Given the description of an element on the screen output the (x, y) to click on. 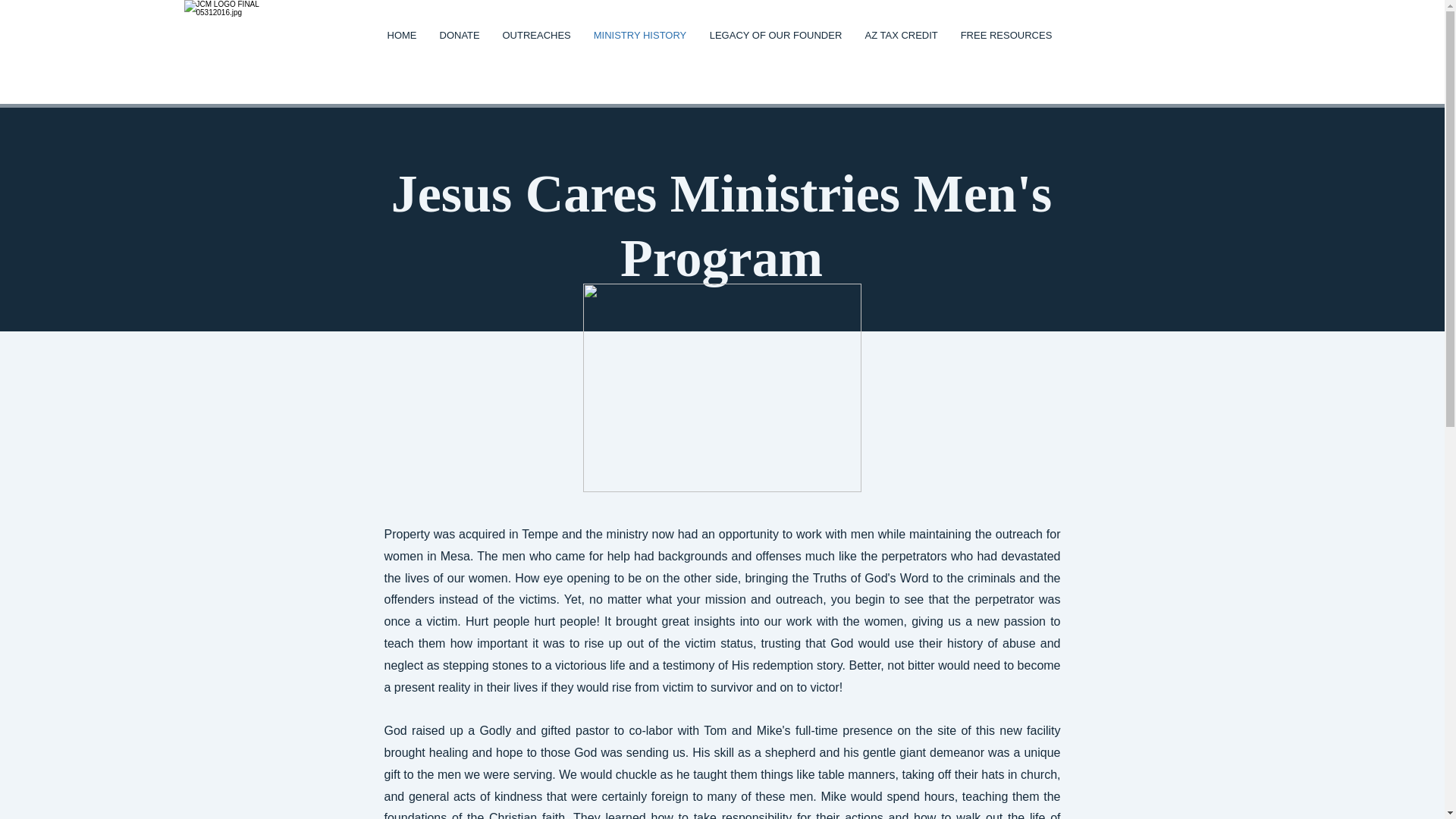
mens.png (721, 387)
HOME (401, 35)
MINISTRY HISTORY (640, 35)
FREE RESOURCES (1006, 35)
LEGACY OF OUR FOUNDER (775, 35)
DONATE (459, 35)
AZ TAX CREDIT (901, 35)
